Given the description of an element on the screen output the (x, y) to click on. 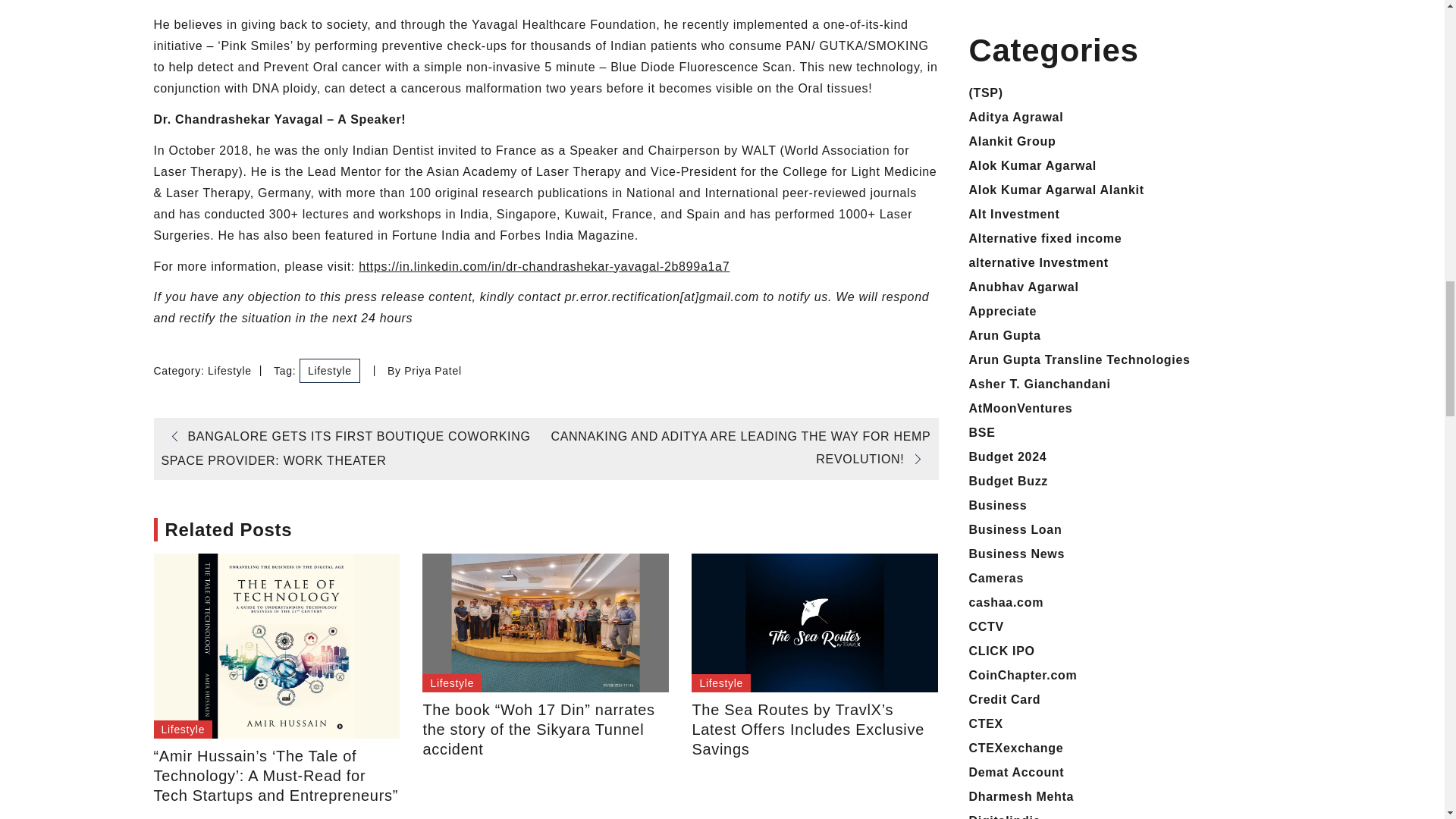
Lifestyle (451, 682)
Lifestyle (721, 682)
Lifestyle (329, 370)
Priya Patel (432, 370)
Lifestyle (229, 370)
Lifestyle (182, 729)
